Given the description of an element on the screen output the (x, y) to click on. 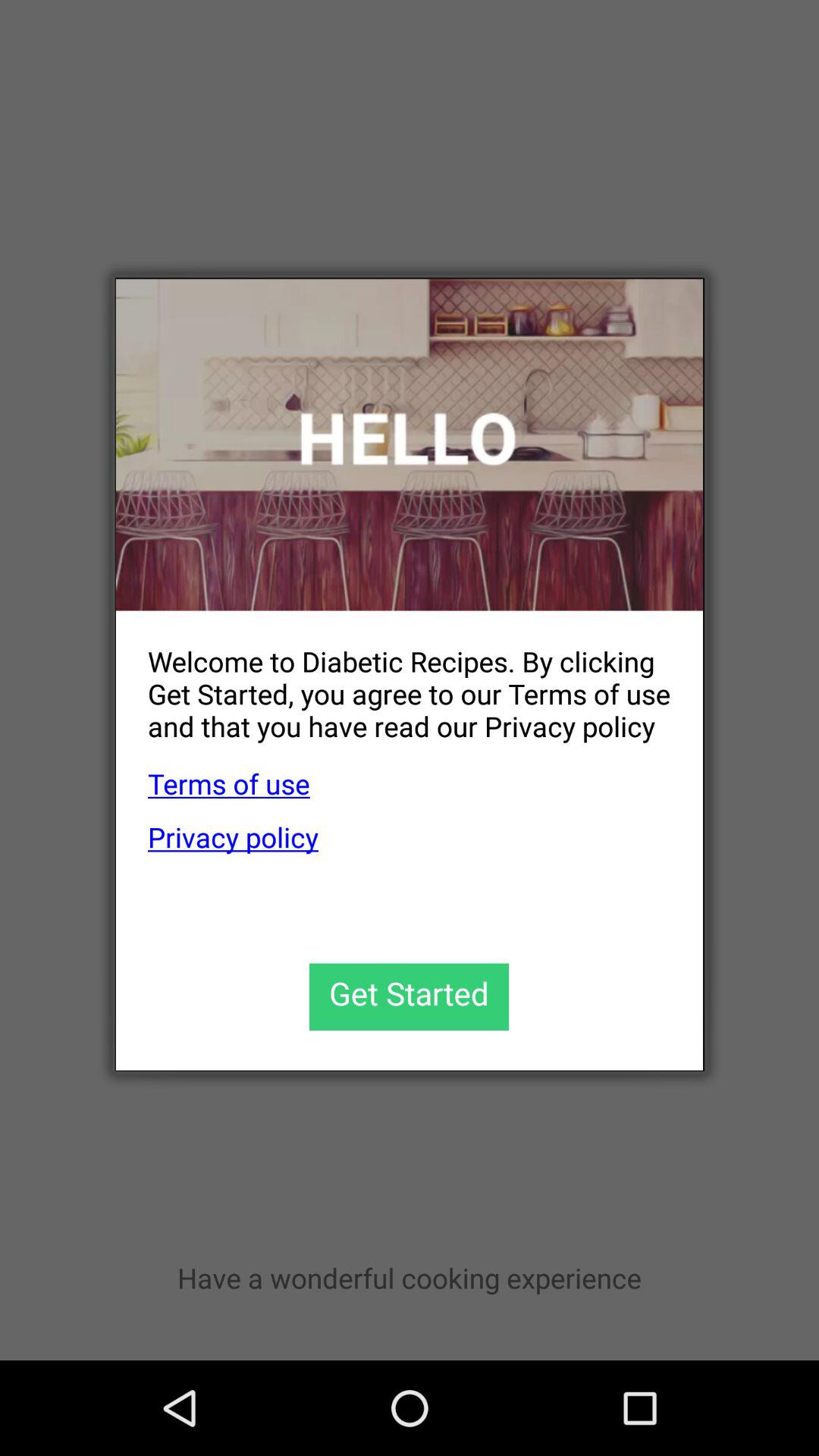
press the icon above welcome to diabetic (409, 444)
